Given the description of an element on the screen output the (x, y) to click on. 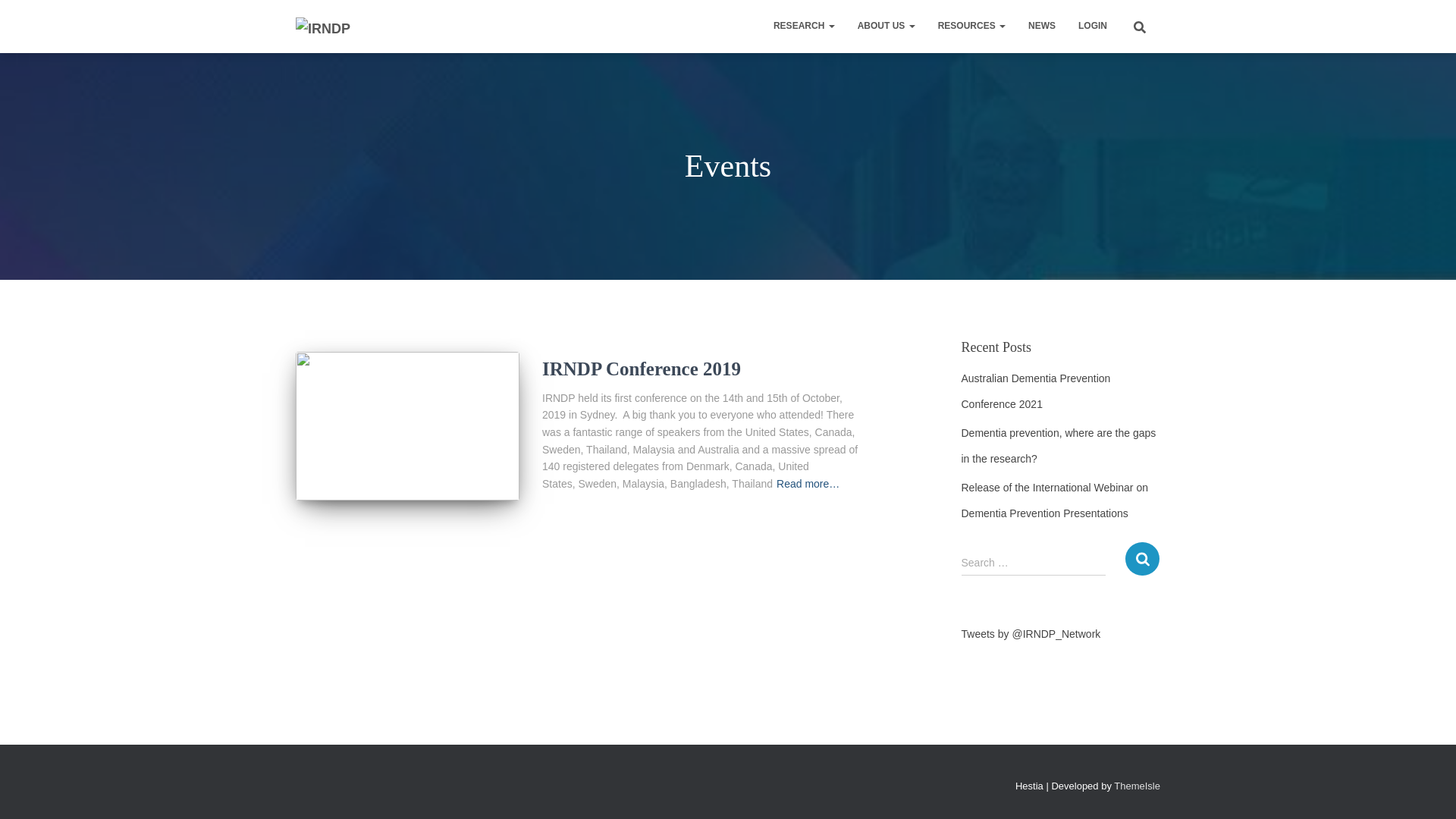
RESEARCH Element type: text (804, 25)
IRNDP Element type: hover (322, 26)
RESOURCES Element type: text (971, 25)
ThemeIsle Element type: text (1136, 785)
Tweets by @IRNDP_Network Element type: text (1031, 633)
NEWS Element type: text (1041, 25)
IRNDP Conference 2019 Element type: hover (407, 426)
Australian Dementia Prevention Conference 2021 Element type: text (1035, 391)
ABOUT US Element type: text (886, 25)
Search Element type: text (1142, 558)
Dementia prevention, where are the gaps in the research? Element type: text (1058, 445)
Search Element type: text (3, 16)
IRNDP Conference 2019 Element type: text (641, 368)
LOGIN Element type: text (1092, 25)
